Given the description of an element on the screen output the (x, y) to click on. 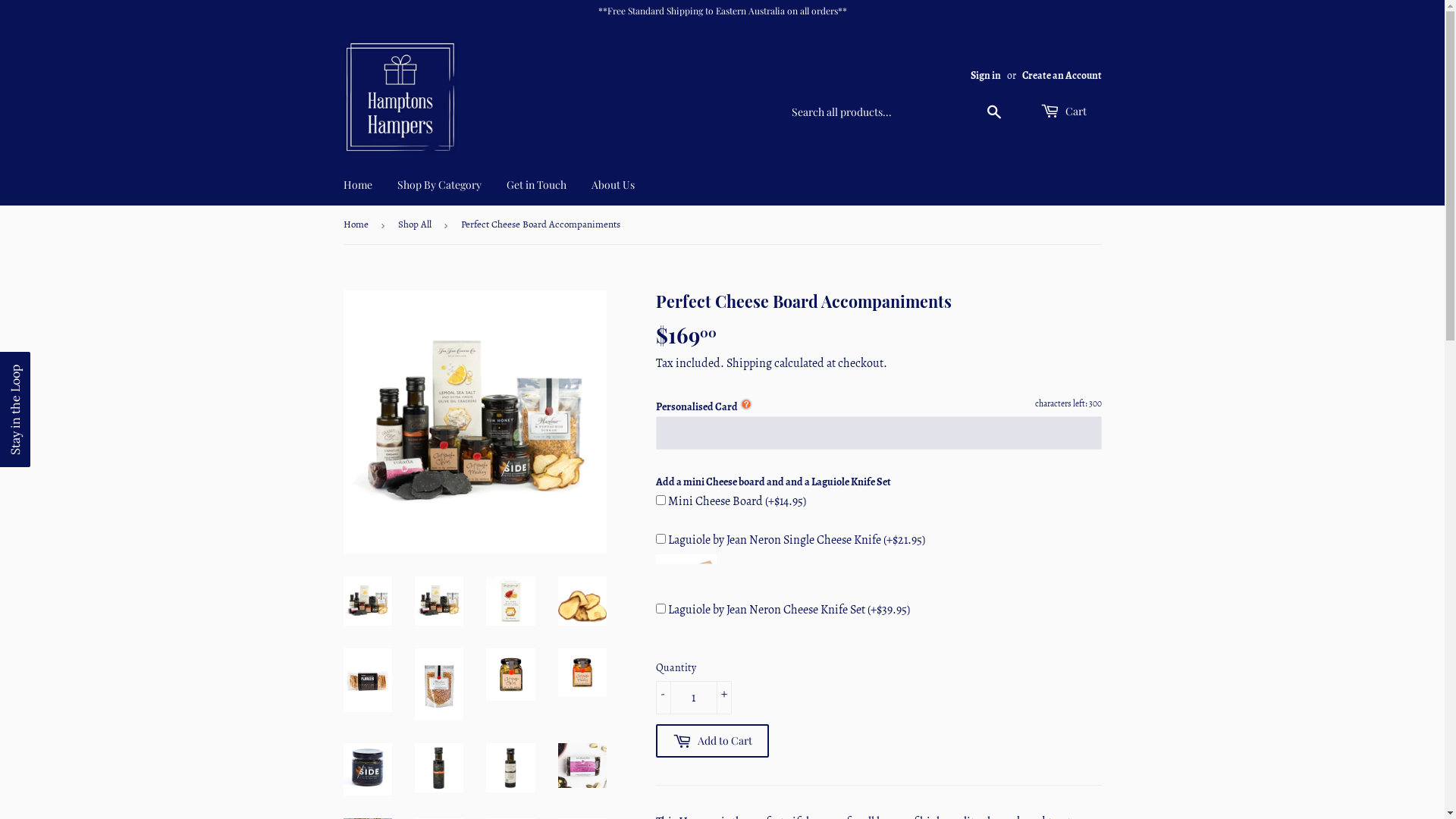
Shop By Category Element type: text (438, 163)
Cart Element type: text (1063, 90)
Search Element type: text (993, 91)
Sign in Element type: text (985, 54)
Shop All Element type: text (416, 203)
Create an Account Element type: text (1061, 54)
Shipping Element type: text (748, 362)
Home Element type: text (357, 163)
Add to Cart Element type: text (711, 709)
Home Element type: text (357, 203)
About Us Element type: text (612, 163)
Get in Touch Element type: text (535, 163)
